Given the description of an element on the screen output the (x, y) to click on. 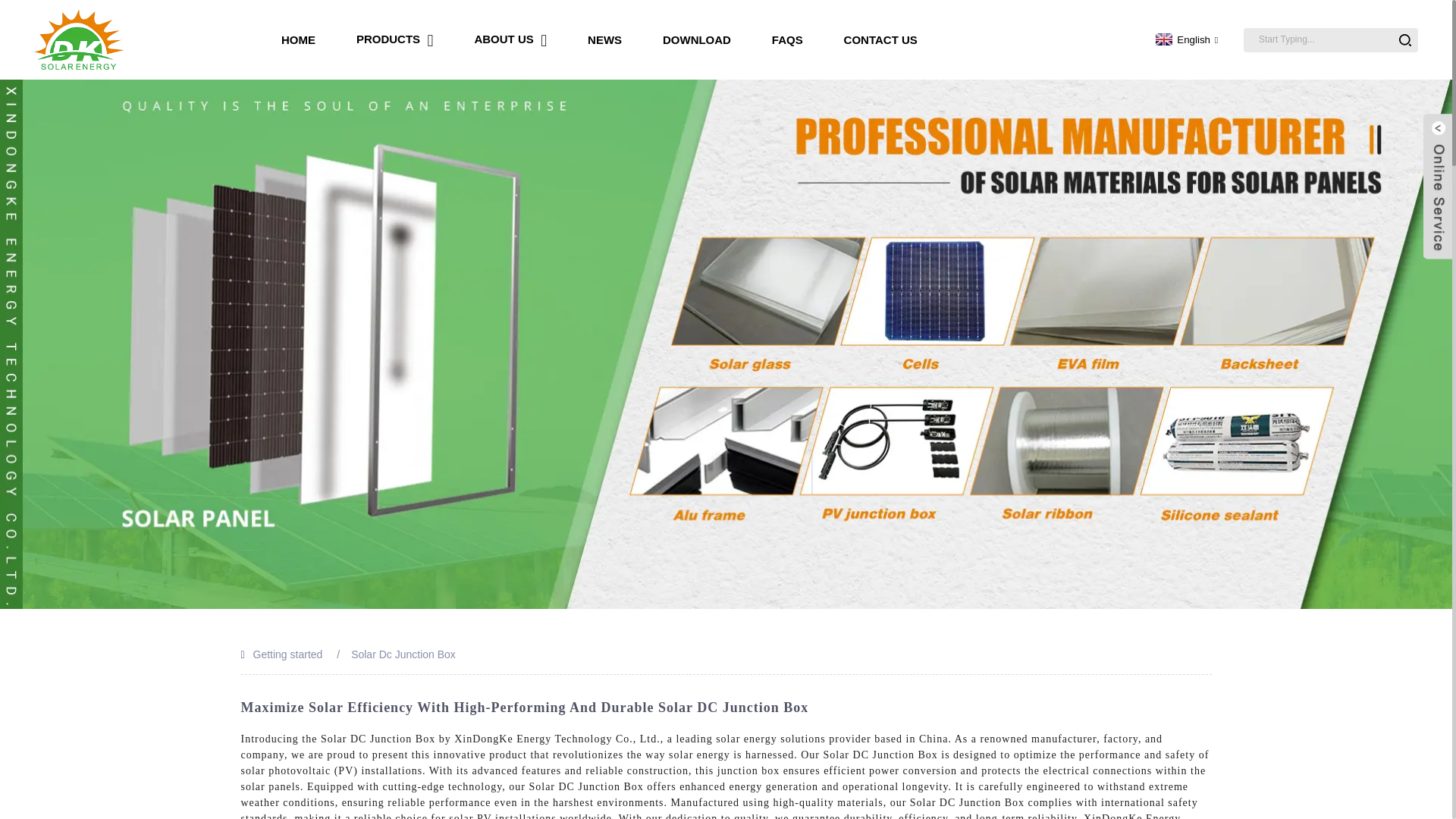
ABOUT US (510, 39)
Getting started (288, 654)
FAQS (787, 39)
English (1184, 39)
Solar Dc Junction Box (402, 654)
NEWS (604, 39)
CONTACT US (880, 39)
HOME (298, 39)
DOWNLOAD (696, 39)
PRODUCTS (394, 39)
